Given the description of an element on the screen output the (x, y) to click on. 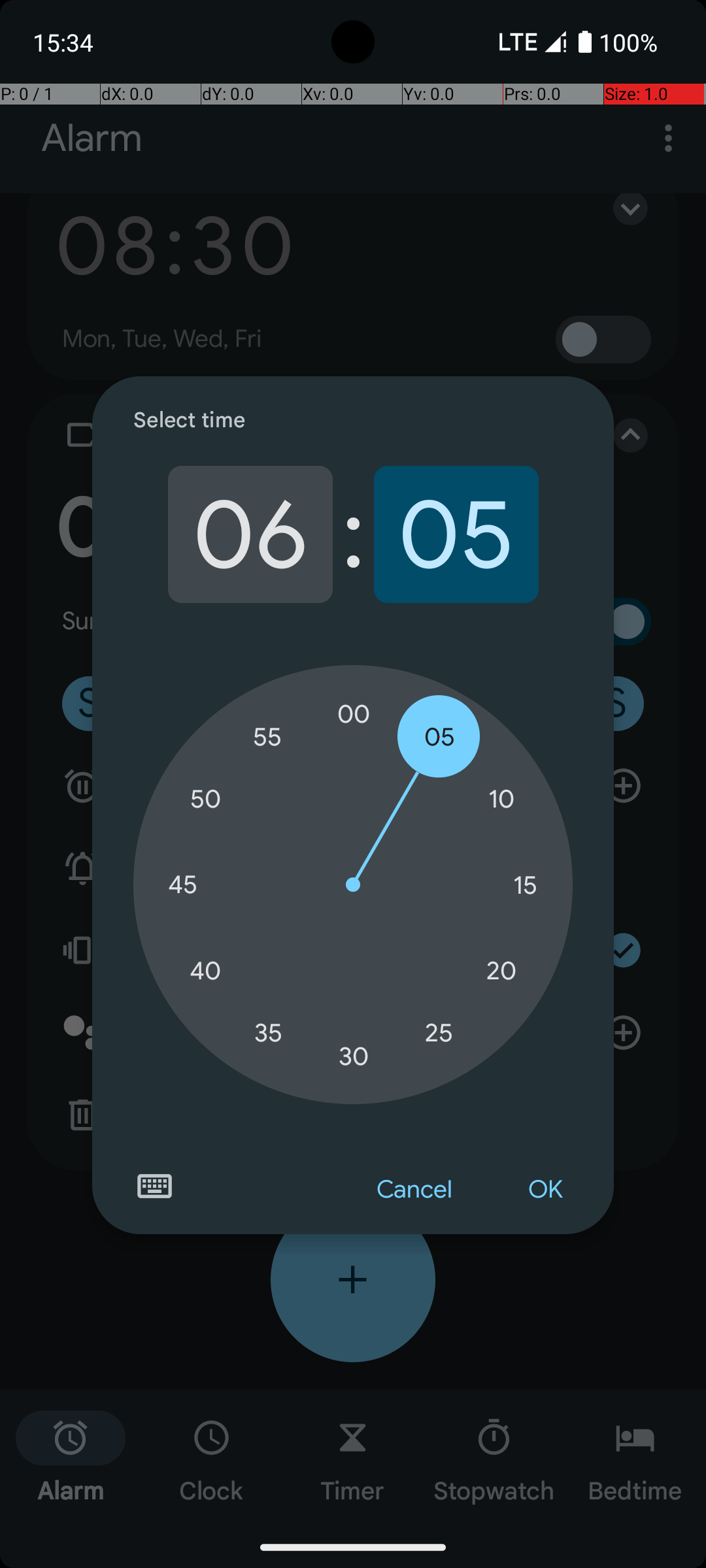
06 Element type: android.view.View (250, 534)
